Given the description of an element on the screen output the (x, y) to click on. 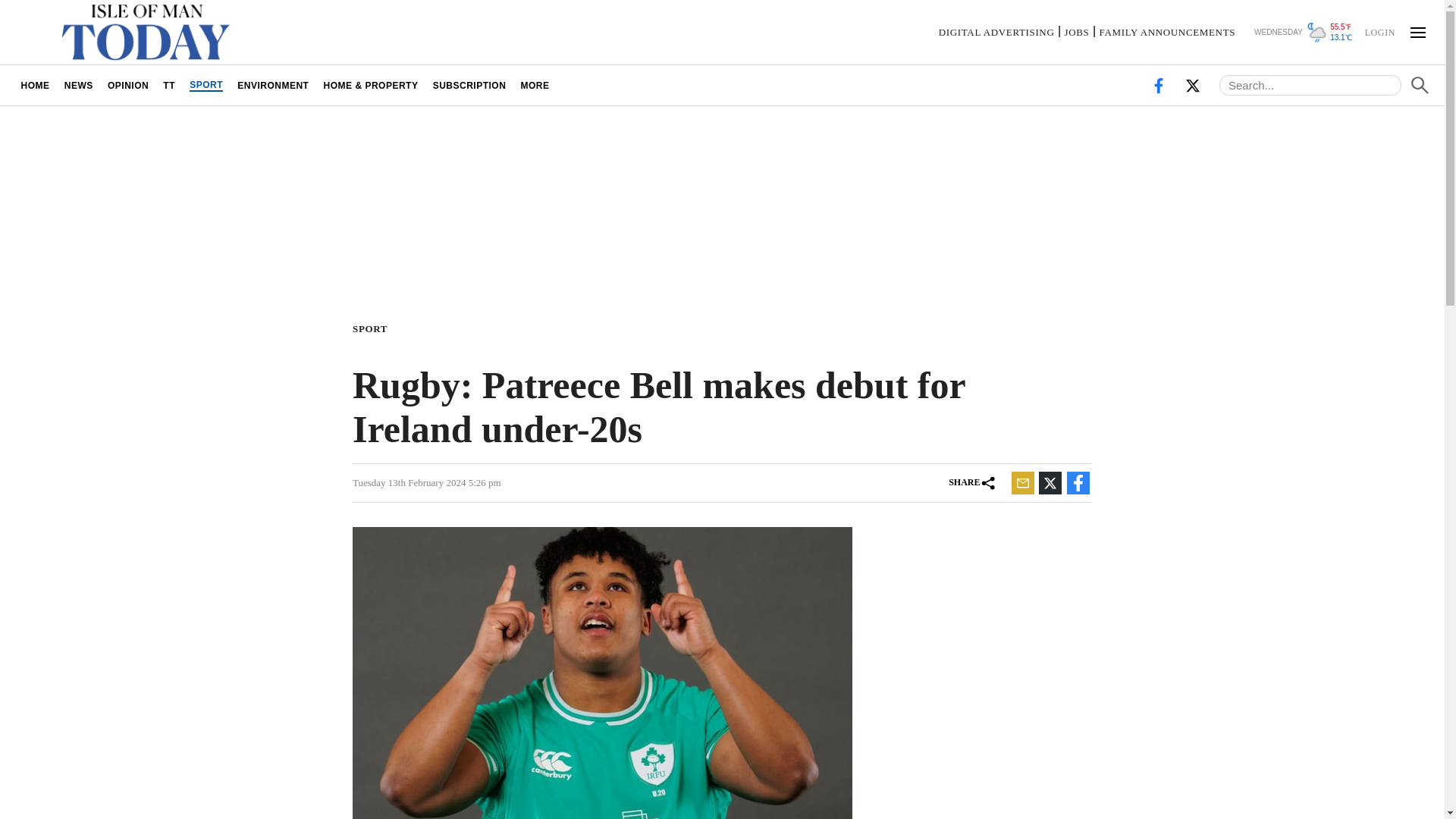
FAMILY ANNOUNCEMENTS (1166, 32)
MORE (534, 85)
LOGIN (1379, 31)
HOME (34, 85)
ENVIRONMENT (272, 85)
SPORT (206, 85)
SPORT (372, 328)
OPINION (127, 85)
NEWS (78, 85)
SUBSCRIPTION (469, 85)
